Given the description of an element on the screen output the (x, y) to click on. 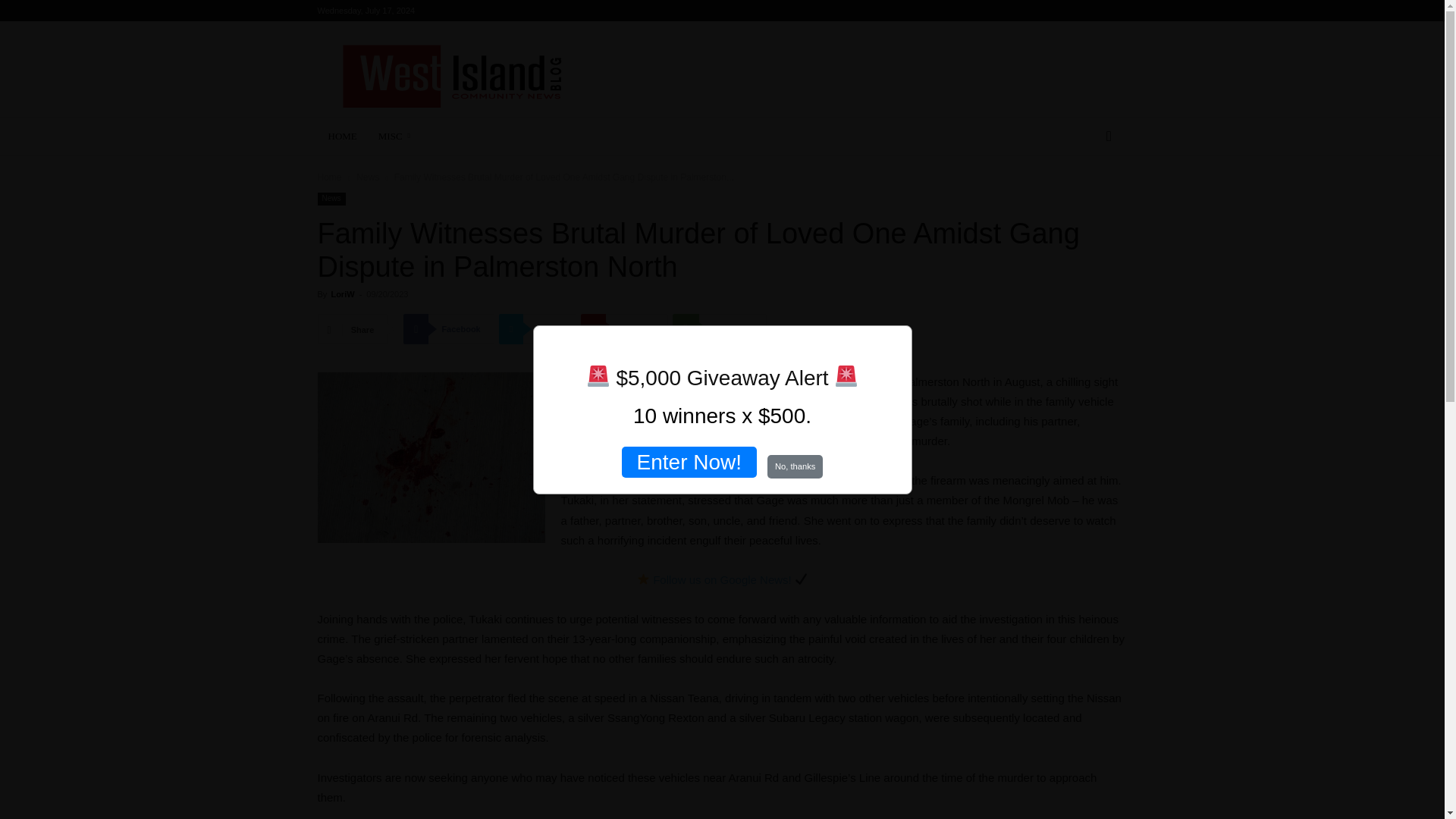
Facebook (448, 328)
red-and-white-abstract-painting (430, 457)
Follow us on Google News! (722, 579)
WhatsApp (719, 328)
Twitter (537, 328)
Home (328, 176)
Twitter (537, 328)
News (367, 176)
WhatsApp (719, 328)
News (331, 198)
Pinterest (624, 328)
Facebook (448, 328)
West Island Blog (450, 76)
LoriW (341, 293)
MISC (397, 135)
